Given the description of an element on the screen output the (x, y) to click on. 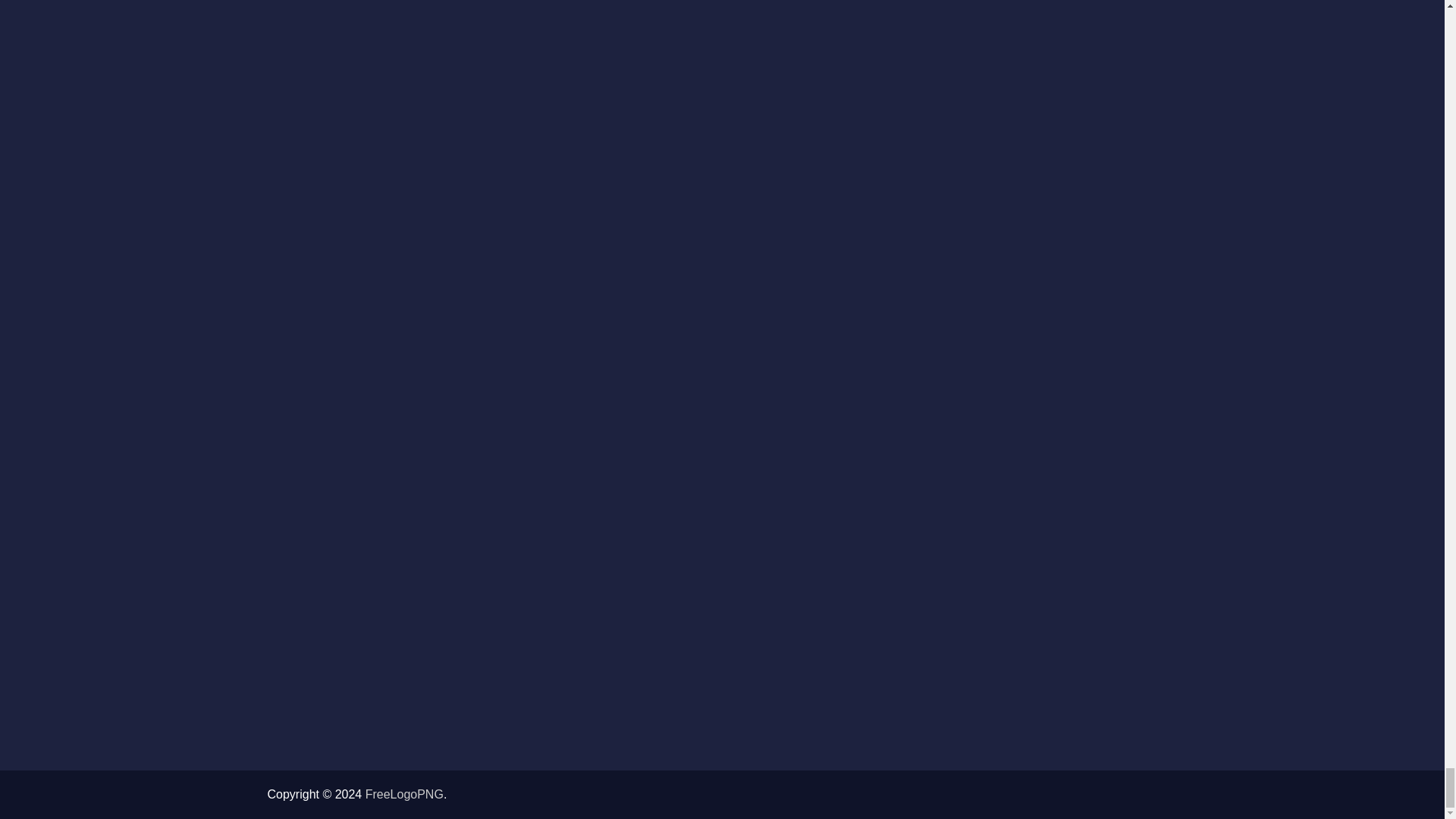
FreeLogoPNG (404, 793)
